Given the description of an element on the screen output the (x, y) to click on. 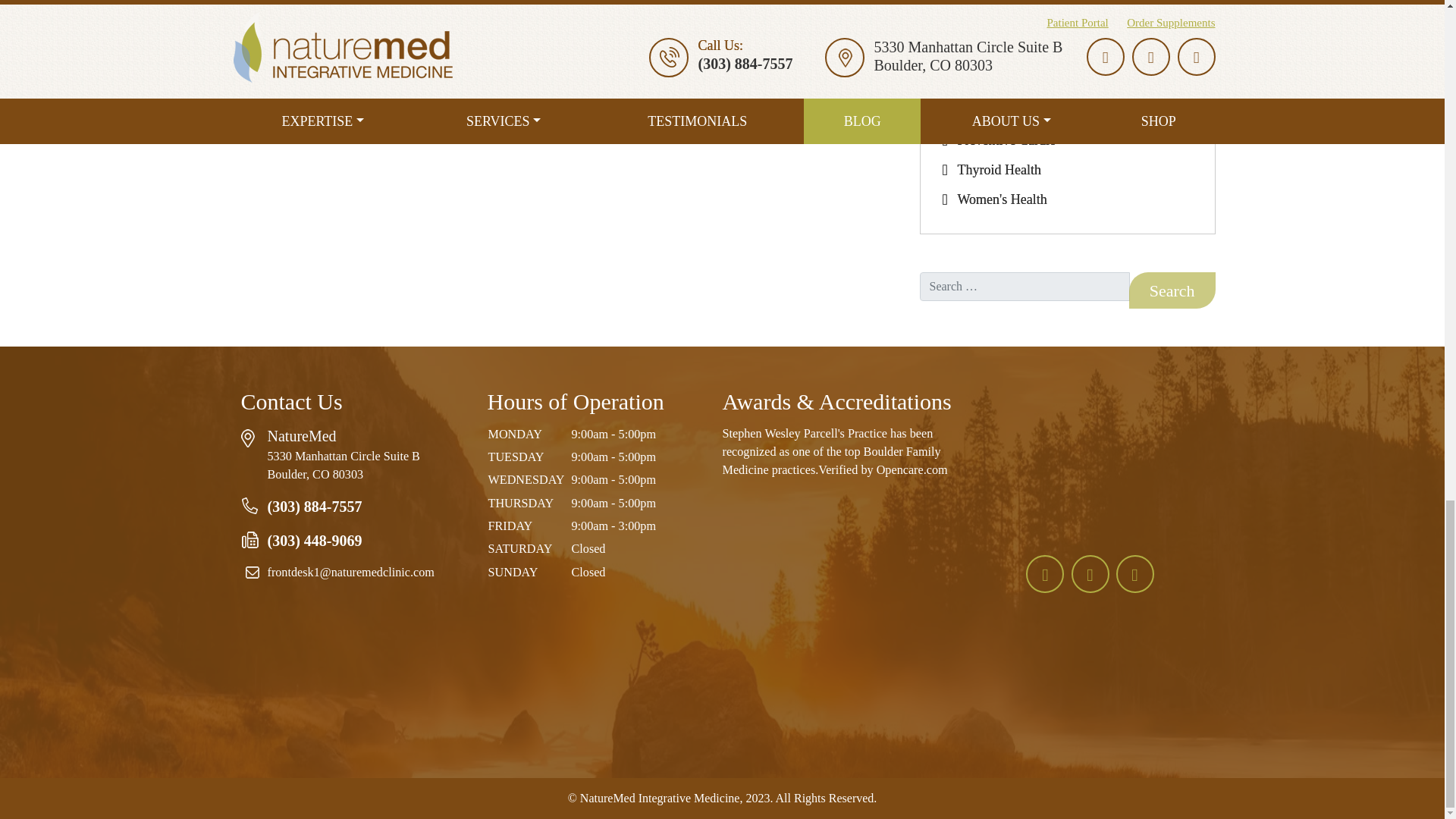
Search (1172, 289)
Search (1172, 289)
